Given the description of an element on the screen output the (x, y) to click on. 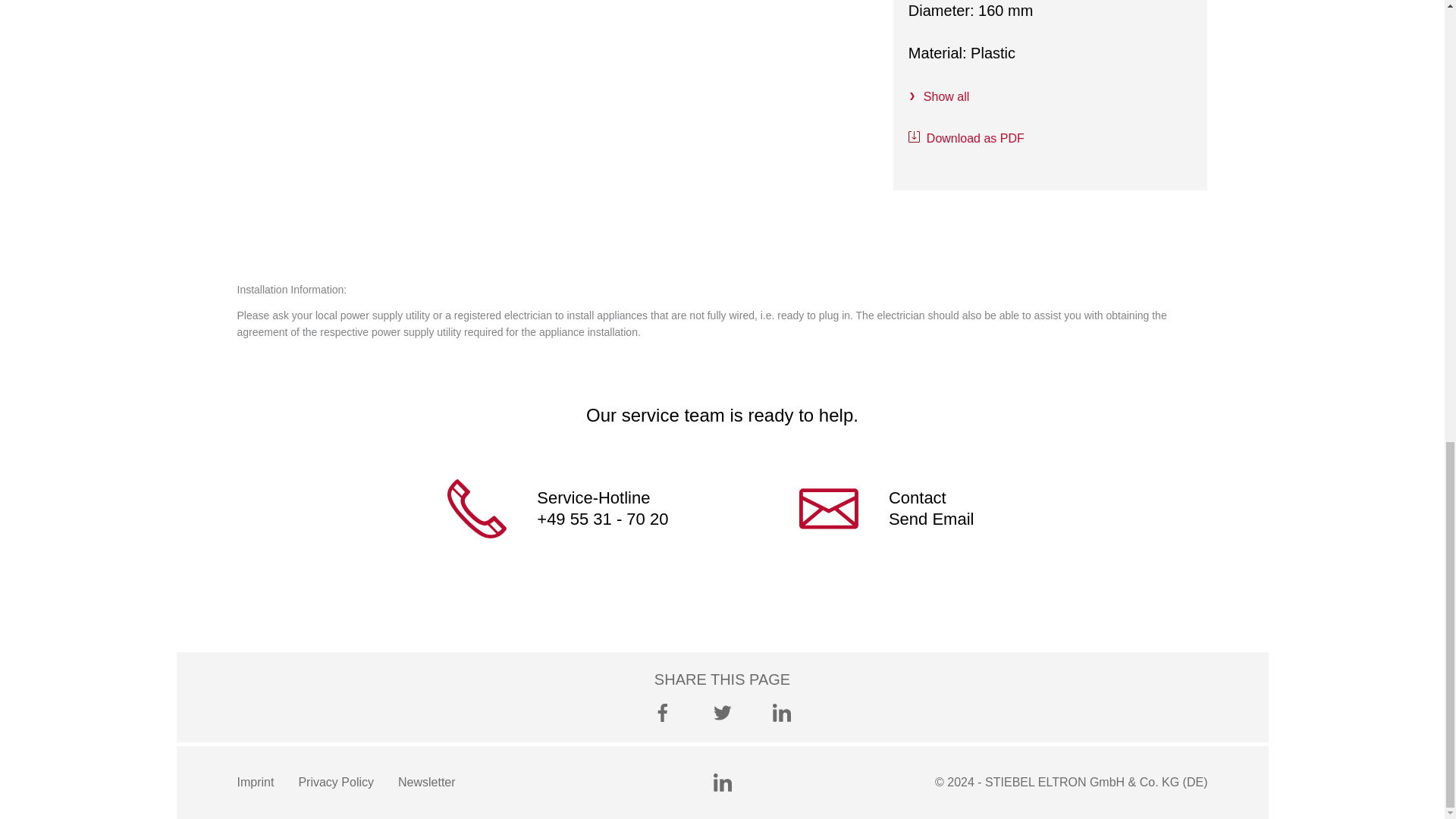
LinkedIn (721, 782)
Twitter (721, 712)
Facebook (662, 712)
LinkedIn (781, 712)
